Given the description of an element on the screen output the (x, y) to click on. 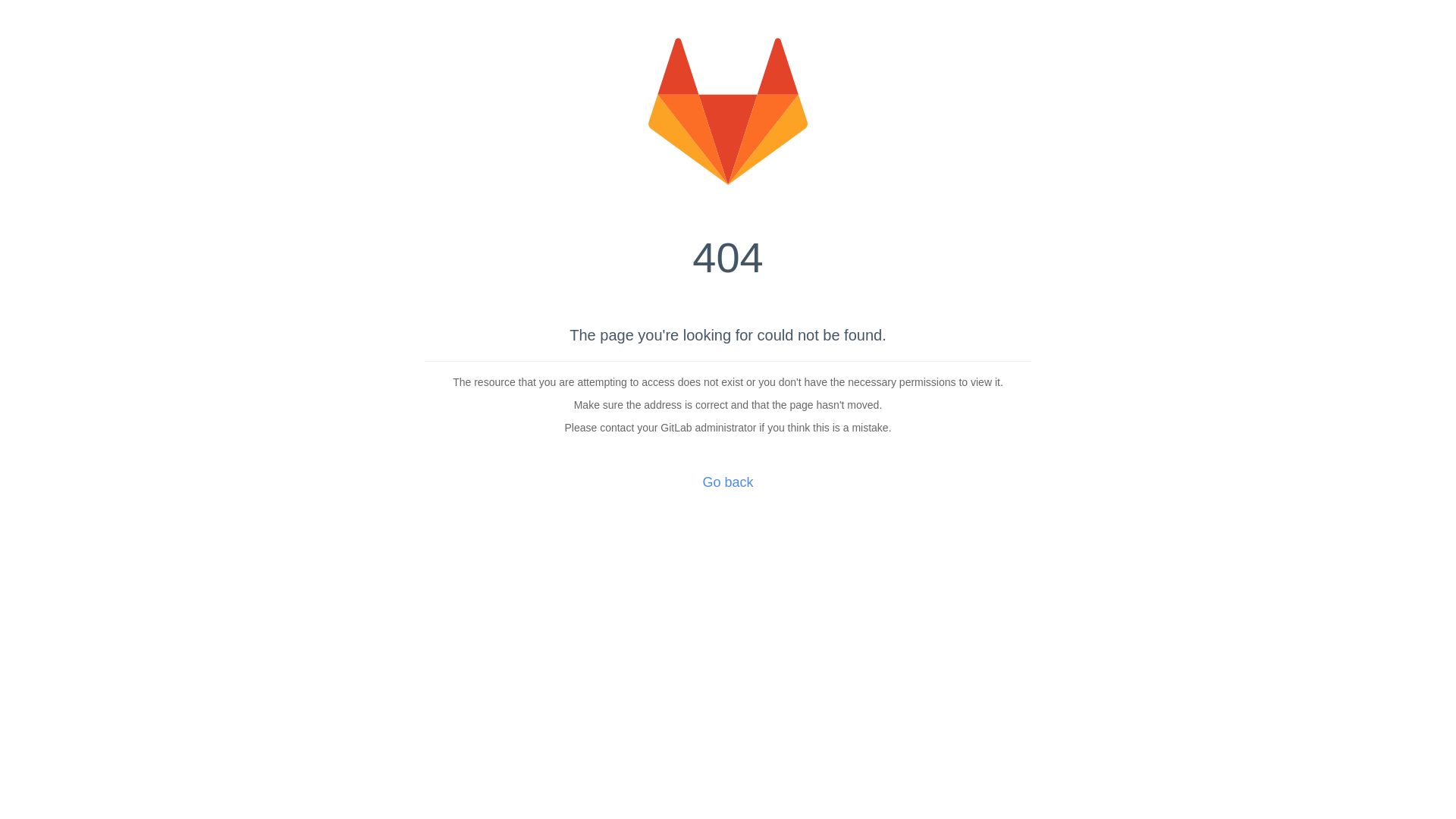
Go back Element type: text (727, 481)
